Given the description of an element on the screen output the (x, y) to click on. 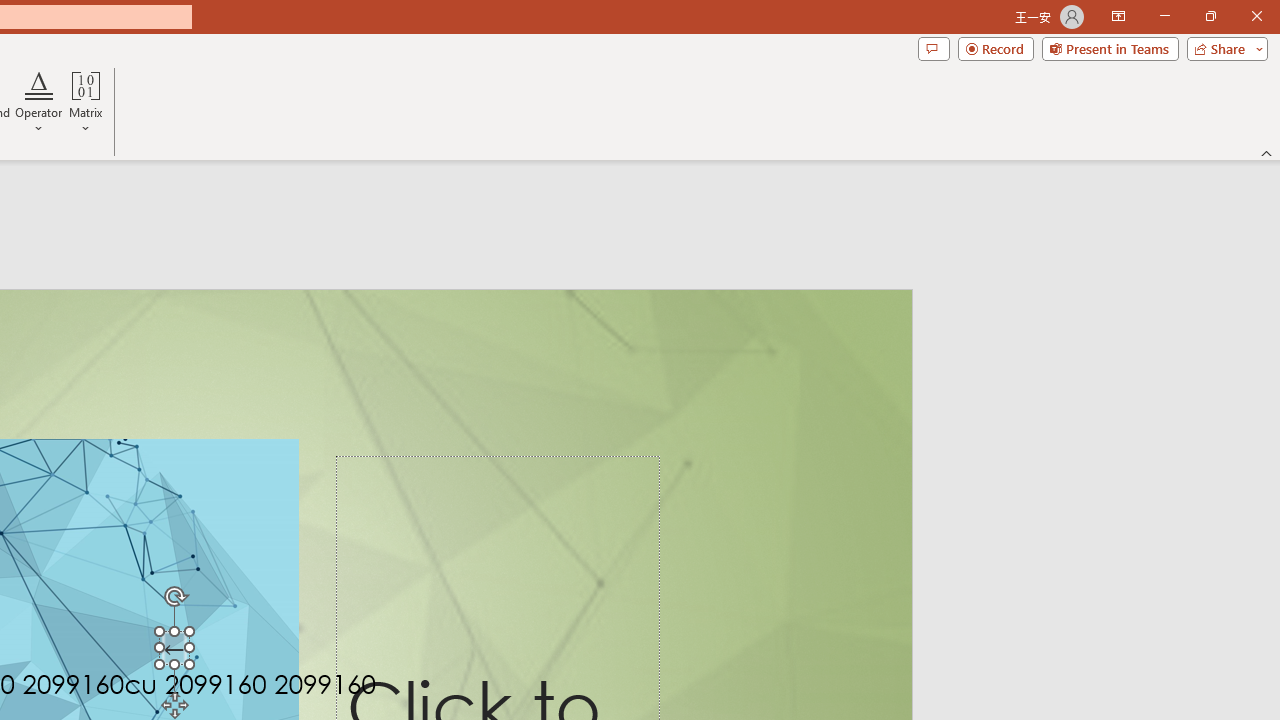
Matrix (86, 102)
Operator (38, 102)
